Given the description of an element on the screen output the (x, y) to click on. 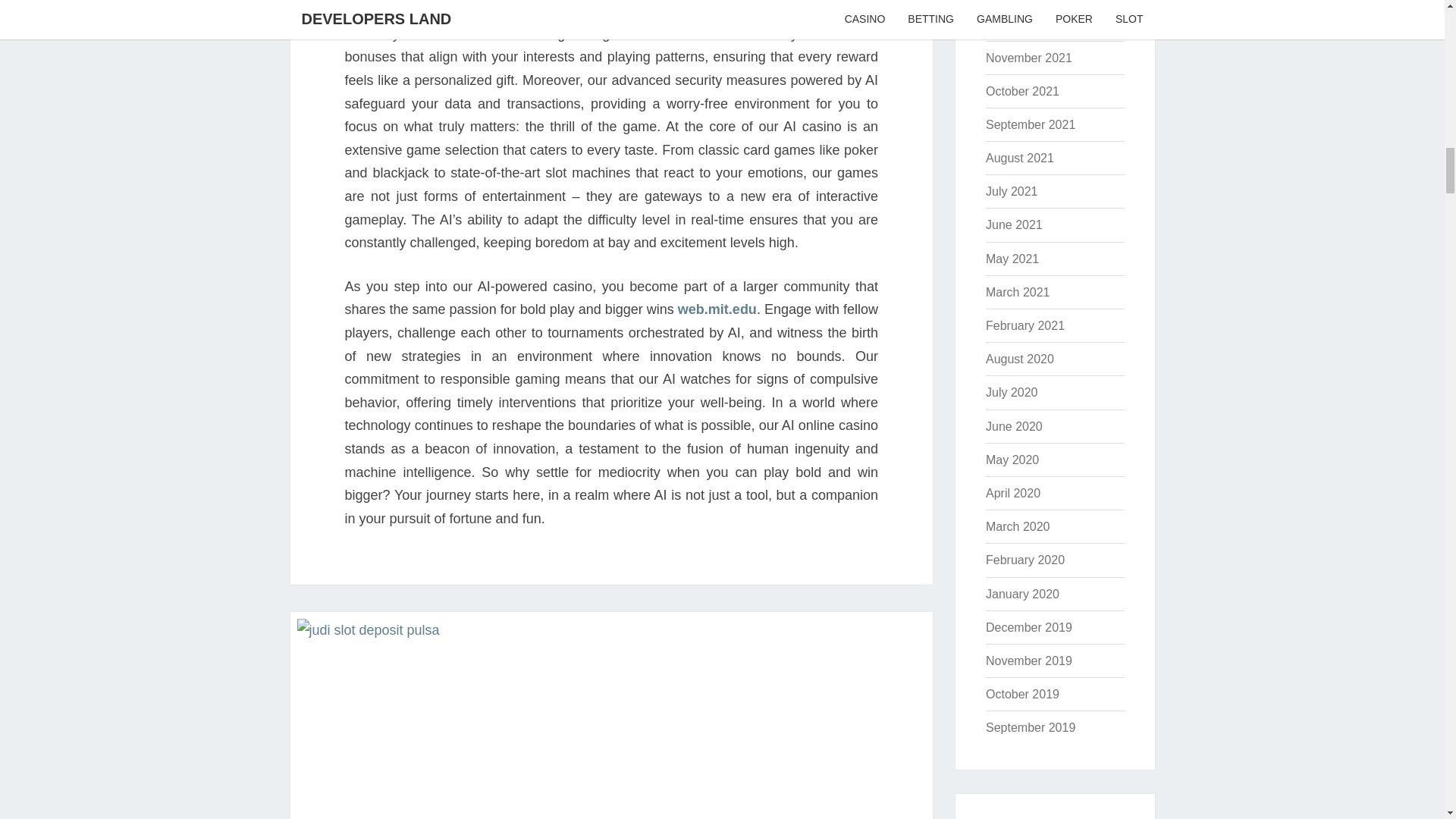
web.mit.edu (717, 309)
